Given the description of an element on the screen output the (x, y) to click on. 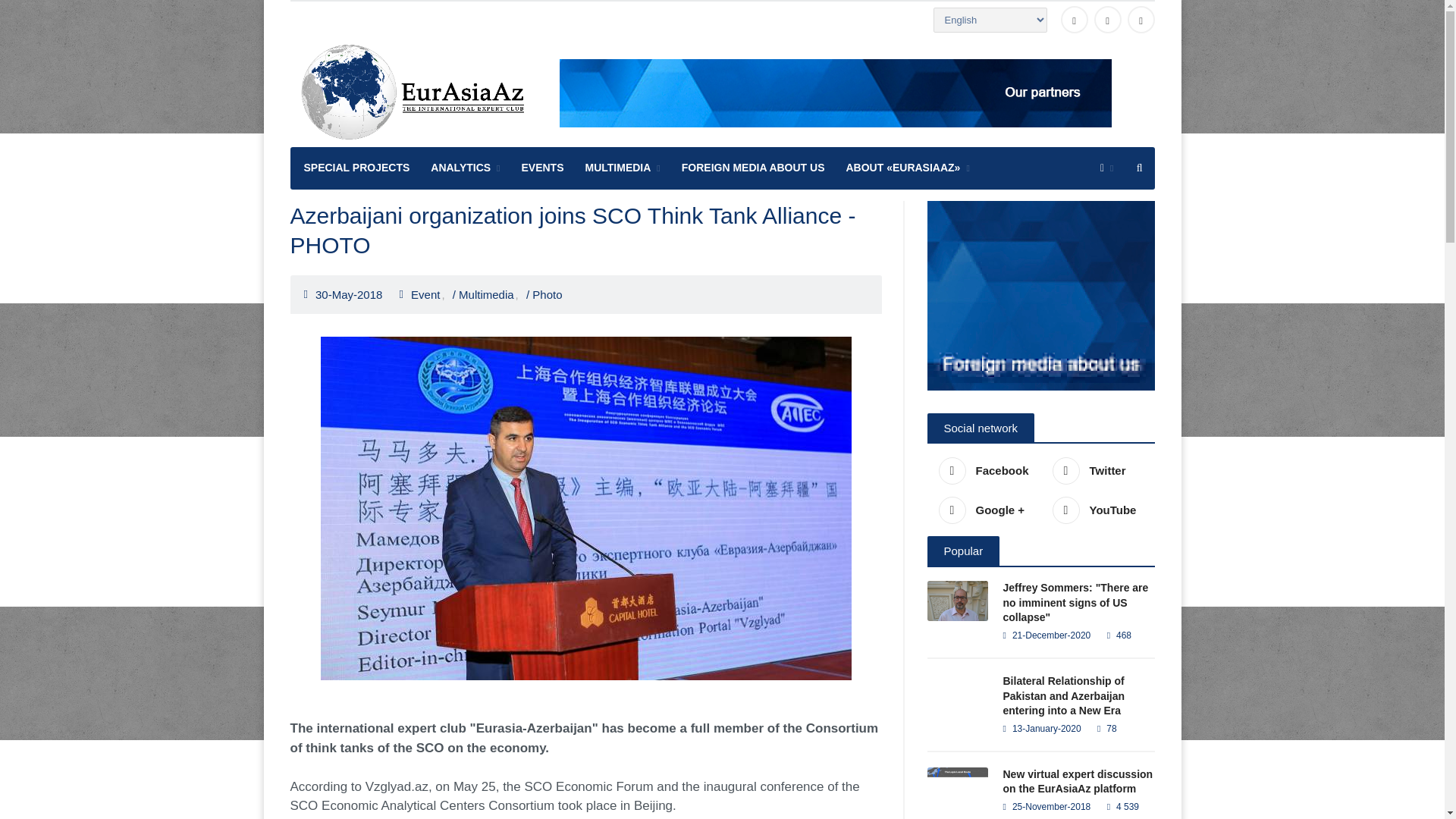
Photo (547, 294)
FOREIGN MEDIA ABOUT US (753, 168)
MULTIMEDIA (623, 168)
Multimedia (488, 294)
ANALYTICS (465, 168)
SPECIAL PROJECTS (354, 168)
Event (427, 294)
EVENTS (543, 168)
